Given the description of an element on the screen output the (x, y) to click on. 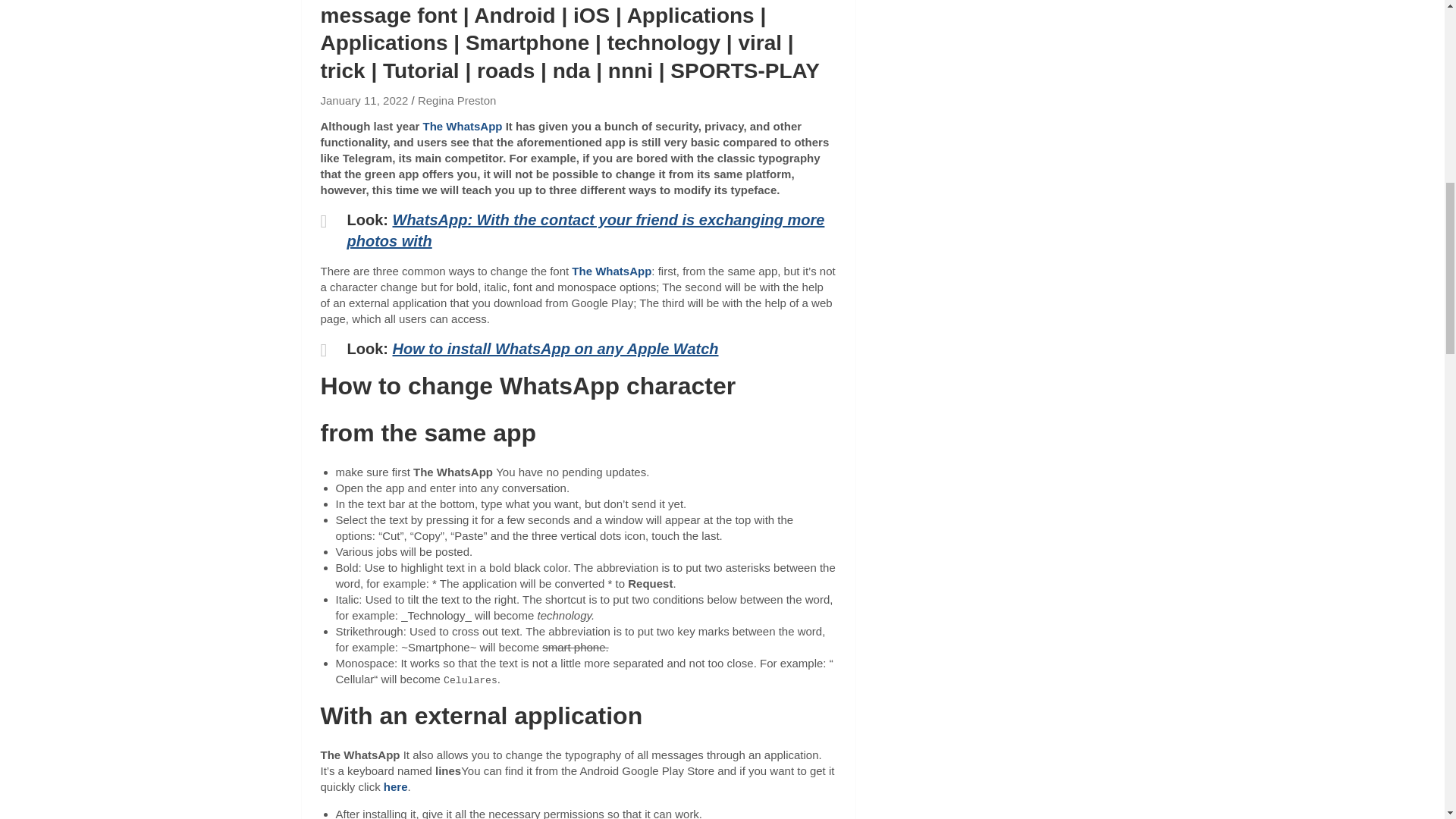
The WhatsApp (611, 270)
Regina Preston (456, 100)
The WhatsApp (464, 125)
How to install WhatsApp on any Apple Watch (556, 348)
here (395, 786)
January 11, 2022 (363, 100)
